Given the description of an element on the screen output the (x, y) to click on. 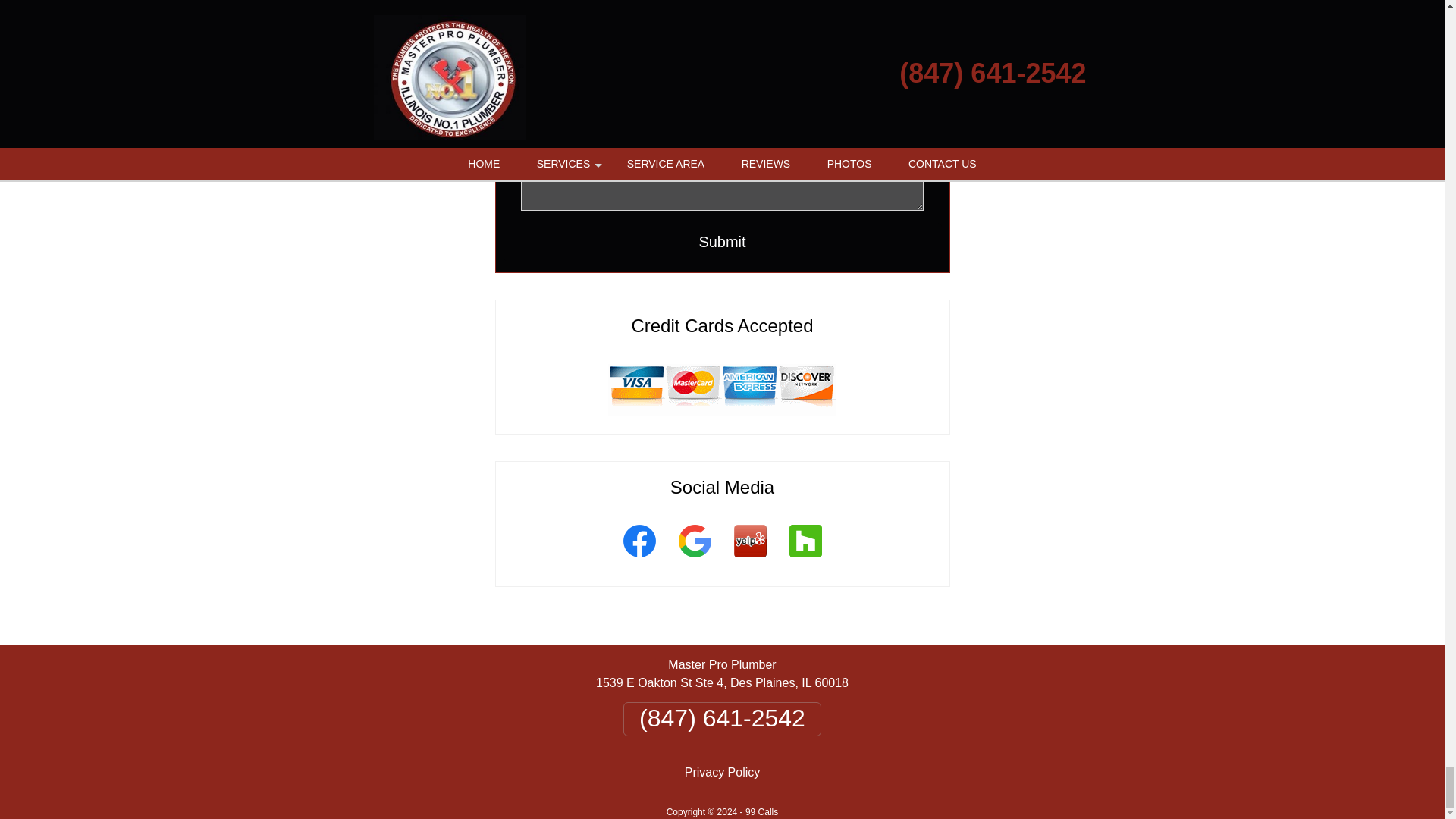
Yelp (749, 559)
Google (694, 559)
Houzz (804, 559)
Submit (722, 241)
Privacy Policy (722, 771)
Facebook (638, 559)
